Given the description of an element on the screen output the (x, y) to click on. 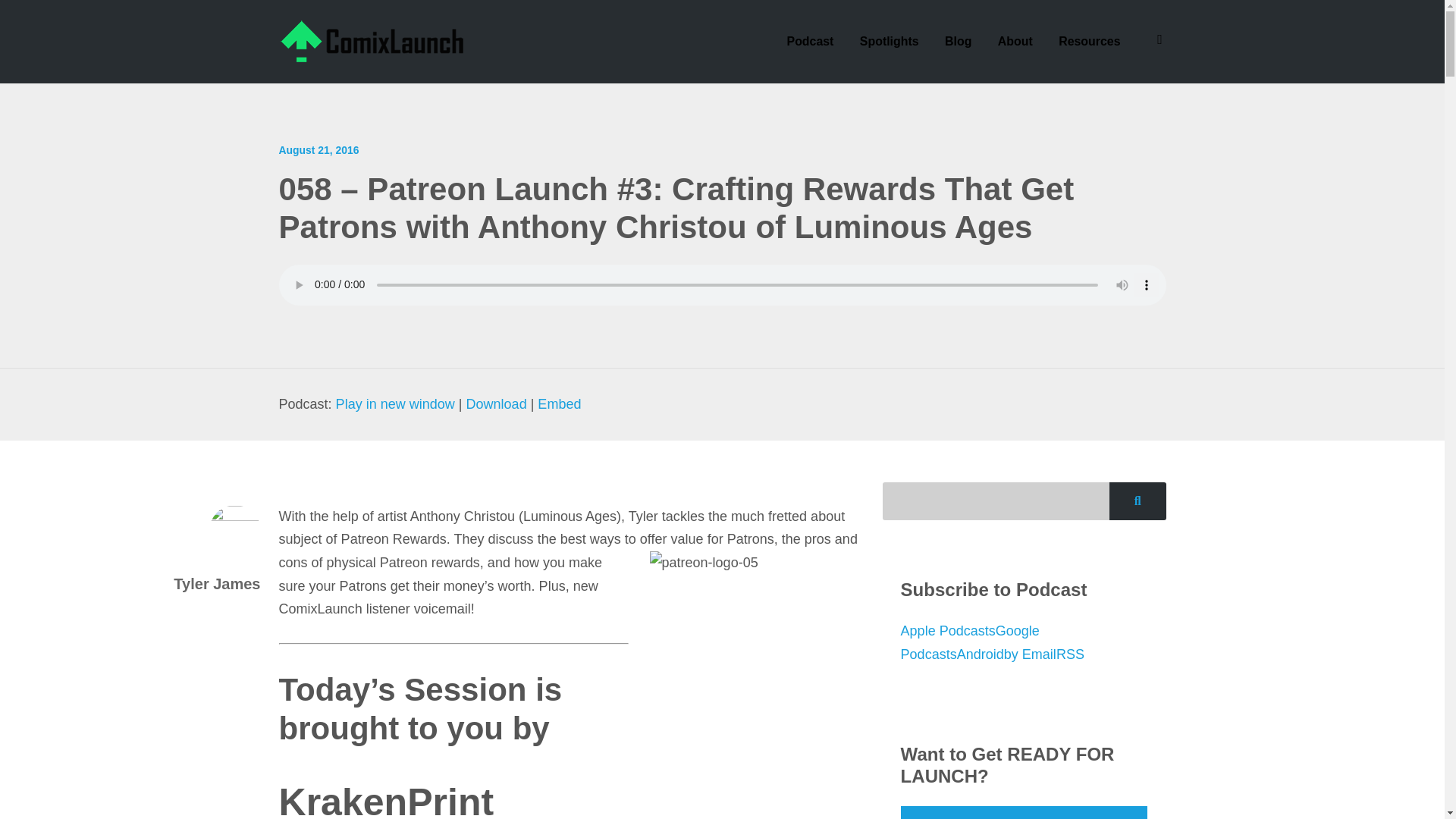
Subscribe on Apple Podcasts (948, 630)
Embed (558, 403)
Resources (1088, 41)
Subscribe by Email (1030, 654)
Download (496, 403)
Subscribe on Android (980, 654)
Embed (558, 403)
Spotlights (889, 41)
Podcast (810, 41)
Subscribe on Google Podcasts (970, 642)
Download (496, 403)
Play in new window (395, 403)
Subscribe via RSS (1070, 654)
Play in new window (395, 403)
